Given the description of an element on the screen output the (x, y) to click on. 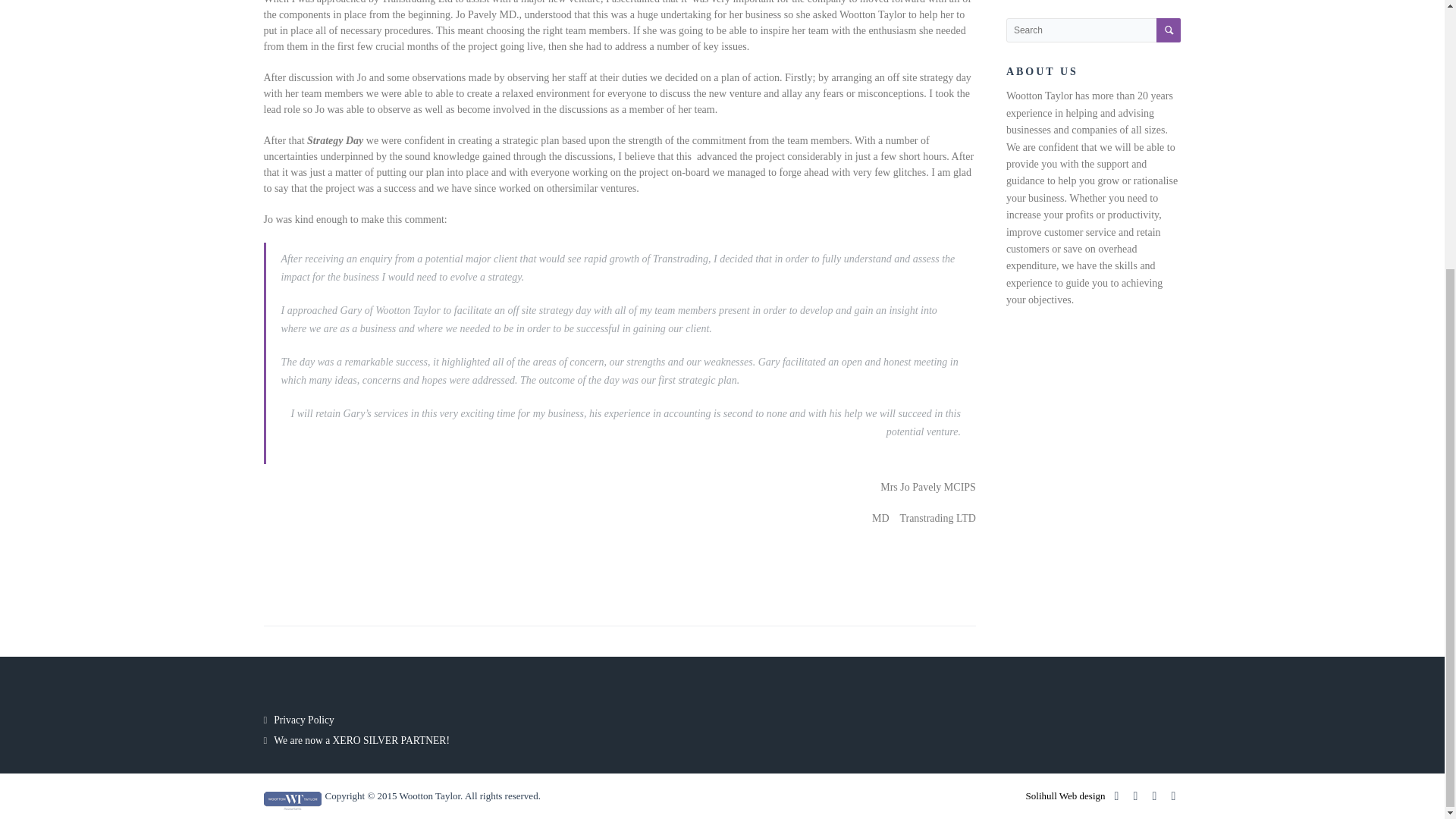
Search (1168, 30)
Search (1168, 30)
